Given the description of an element on the screen output the (x, y) to click on. 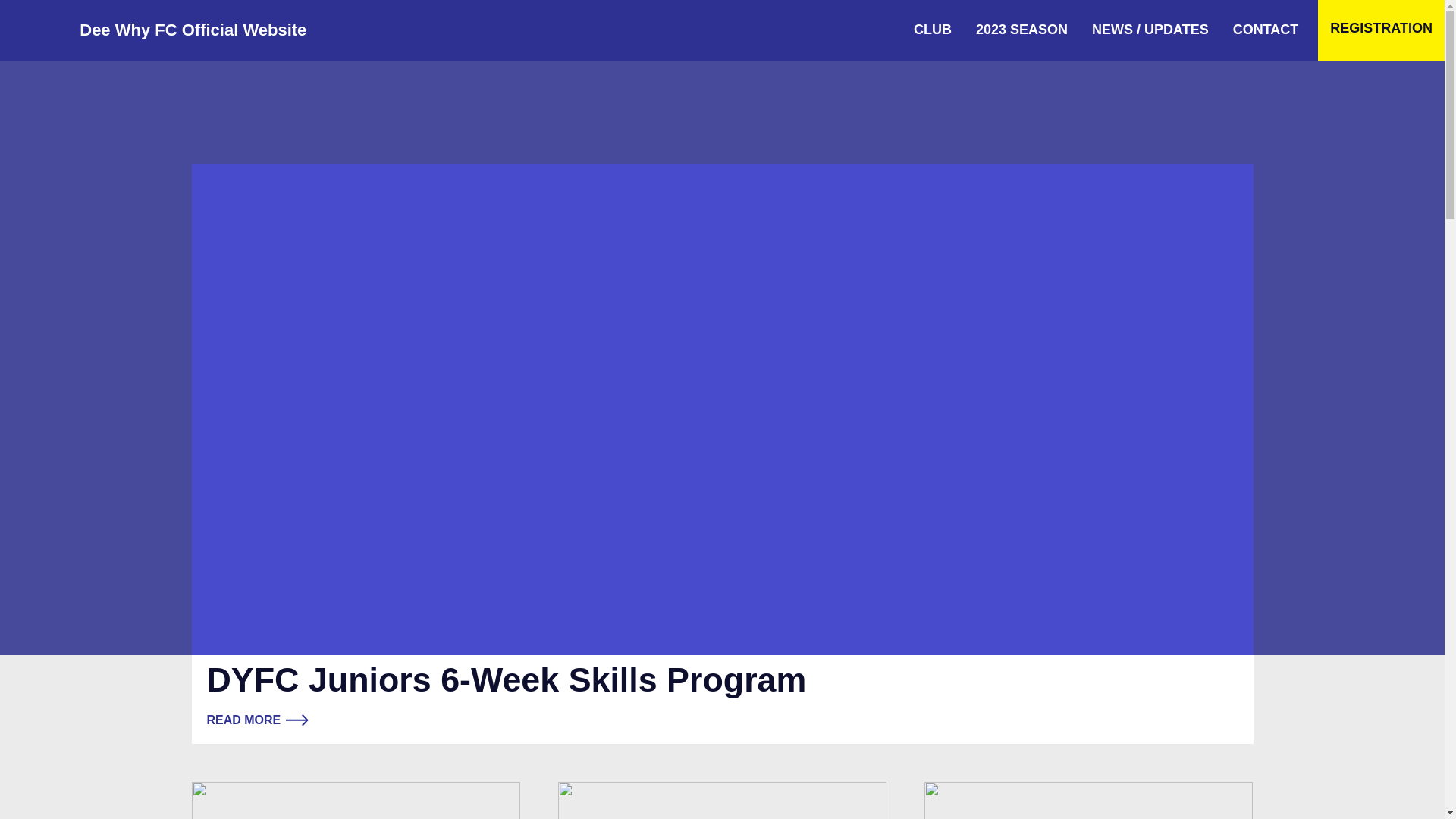
Dee Why FC Official Website Element type: text (189, 30)
CLUB Element type: text (932, 29)
NEWS / UPDATES Element type: text (1149, 29)
READ MORE Element type: text (257, 720)
2023 SEASON Element type: text (1021, 29)
CONTACT Element type: text (1265, 29)
